Given the description of an element on the screen output the (x, y) to click on. 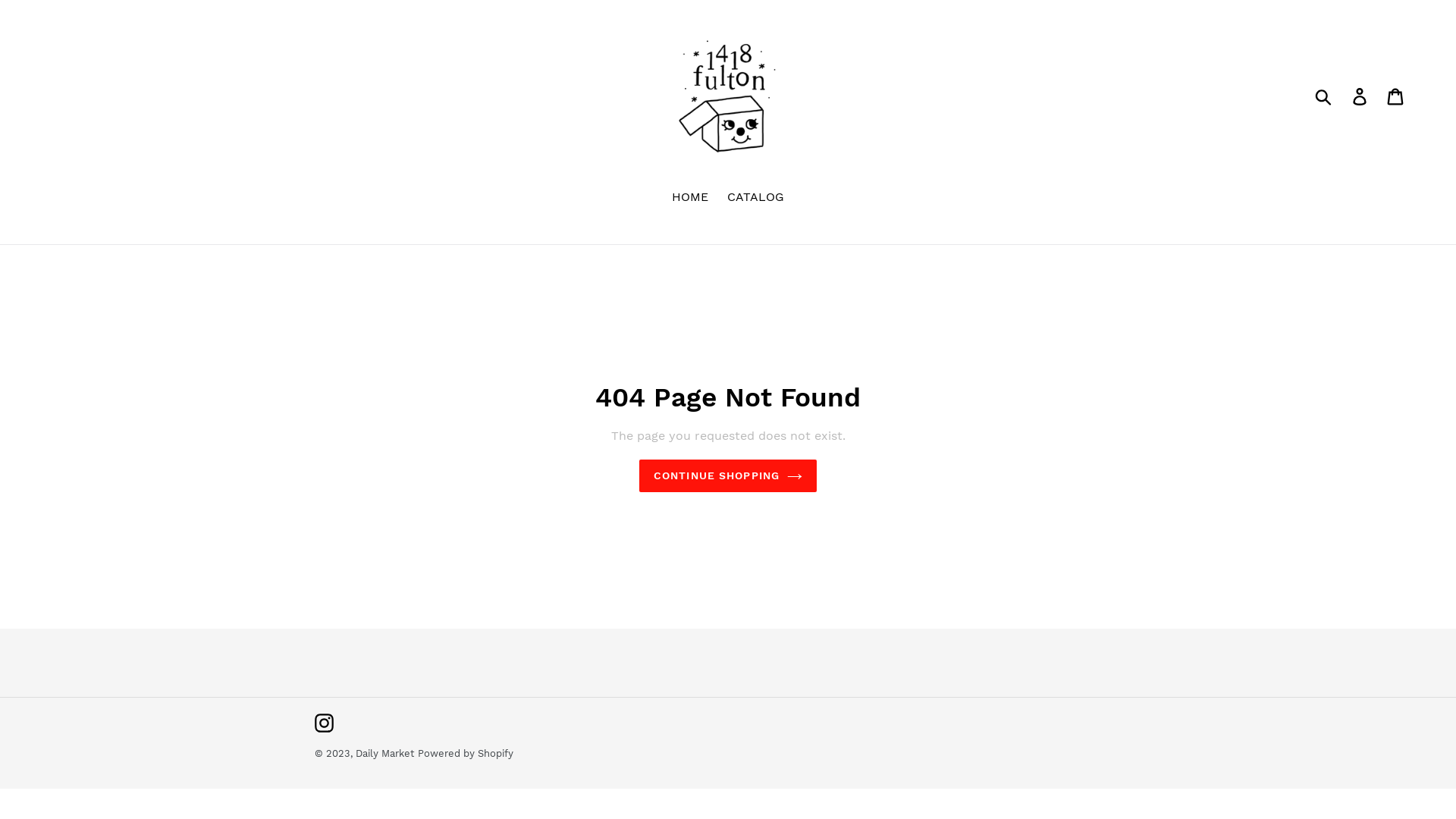
Log in Element type: text (1360, 95)
Cart Element type: text (1396, 95)
CONTINUE SHOPPING Element type: text (727, 475)
Submit Element type: text (1324, 95)
CATALOG Element type: text (755, 198)
HOME Element type: text (689, 198)
Daily Market Element type: text (384, 753)
Instagram Element type: text (323, 723)
Powered by Shopify Element type: text (465, 753)
